Given the description of an element on the screen output the (x, y) to click on. 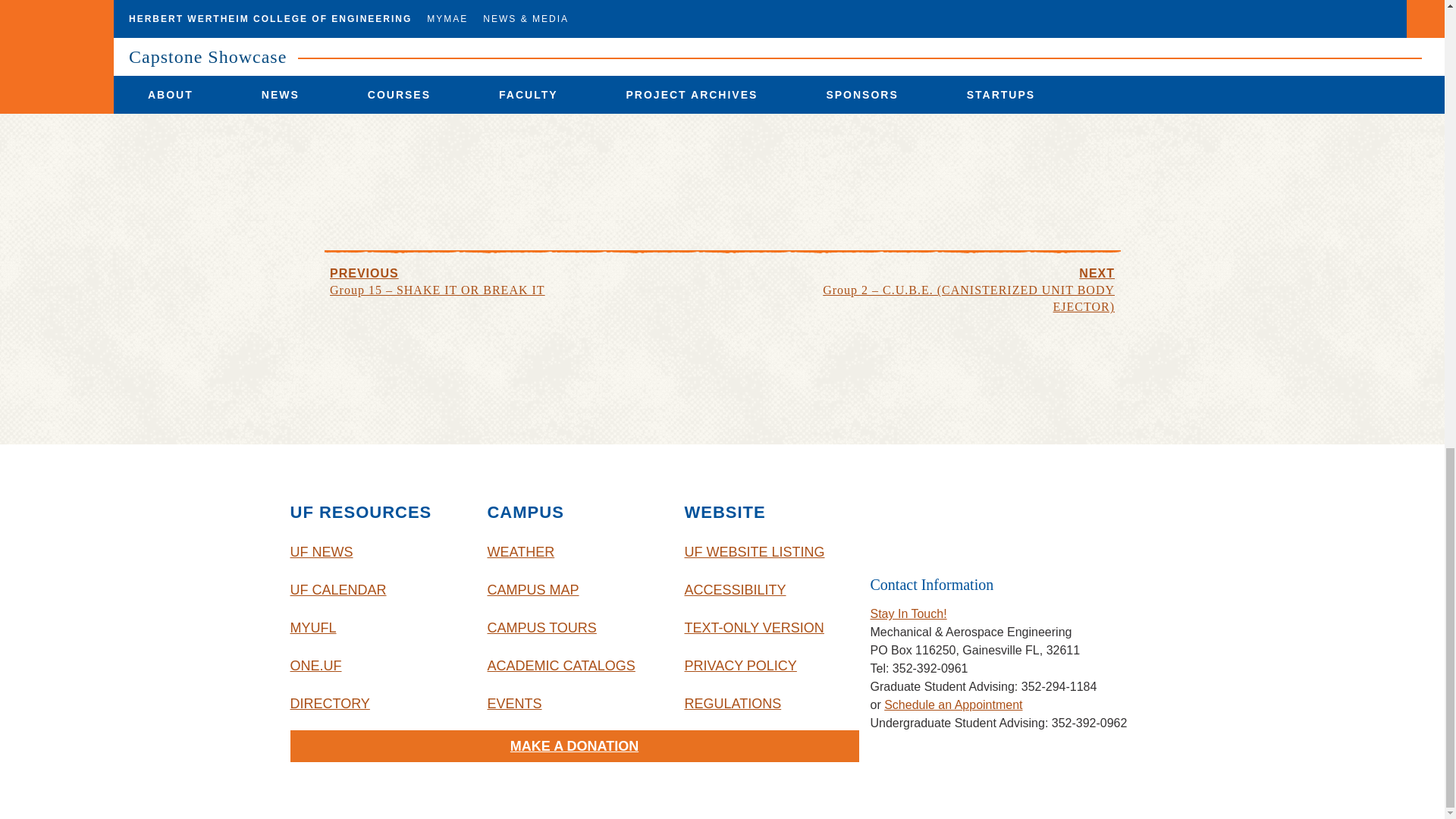
WEATHER (573, 551)
ONE.UF (376, 665)
Schedule an Appointment (952, 704)
UF WEBSITE LISTING (771, 551)
MYUFL (376, 628)
CAMPUS MAP (573, 589)
ACADEMIC CATALOGS (573, 665)
EVENTS (573, 703)
CAMPUS TOURS (573, 628)
